Given the description of an element on the screen output the (x, y) to click on. 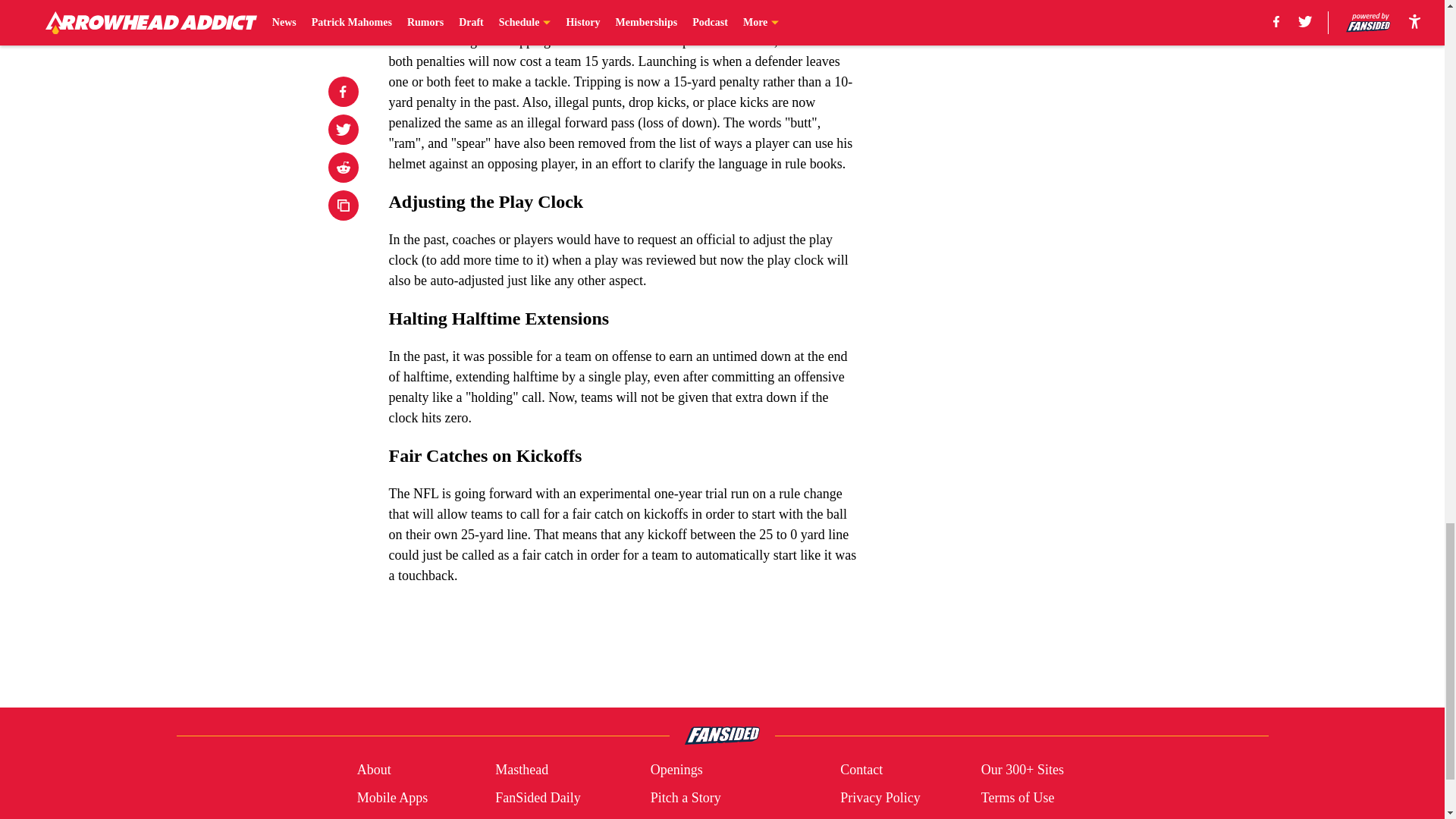
FanSided Daily (537, 797)
Mobile Apps (392, 797)
Openings (676, 770)
Pitch a Story (685, 797)
Privacy Policy (880, 797)
About (373, 770)
Masthead (521, 770)
Contact (861, 770)
Terms of Use (1017, 797)
